Given the description of an element on the screen output the (x, y) to click on. 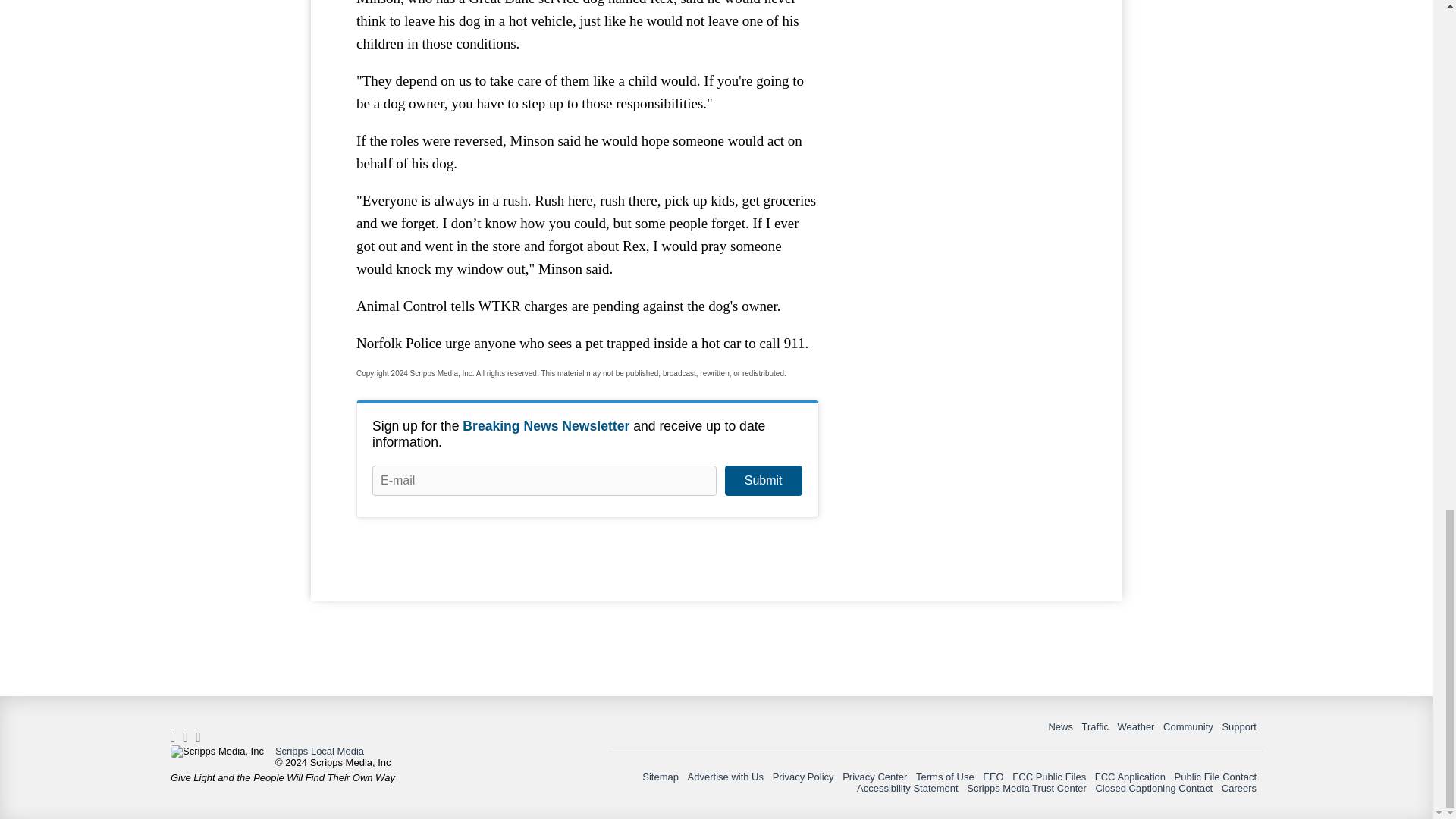
Submit (763, 481)
